Given the description of an element on the screen output the (x, y) to click on. 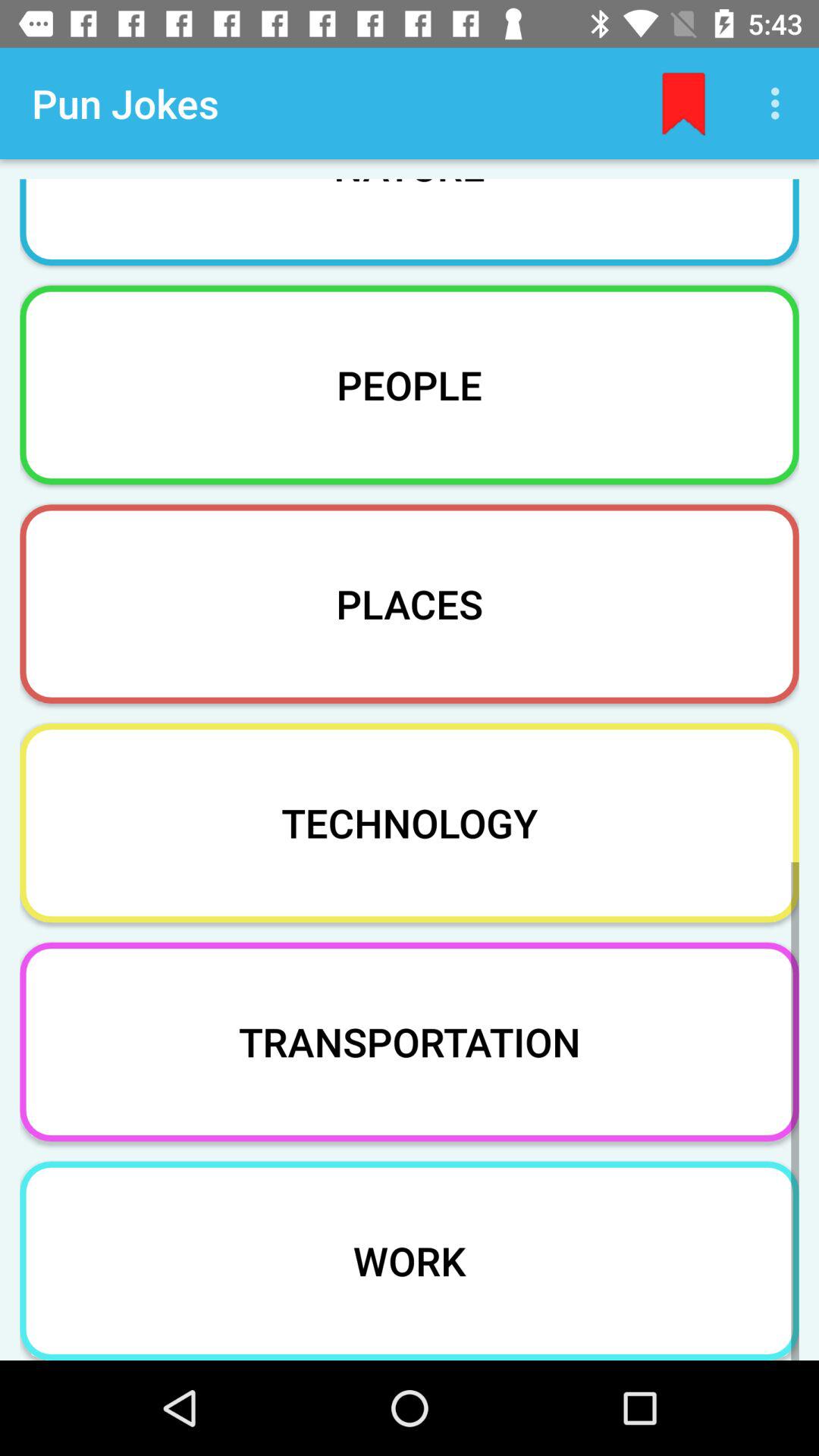
open the item above the nature item (779, 103)
